Given the description of an element on the screen output the (x, y) to click on. 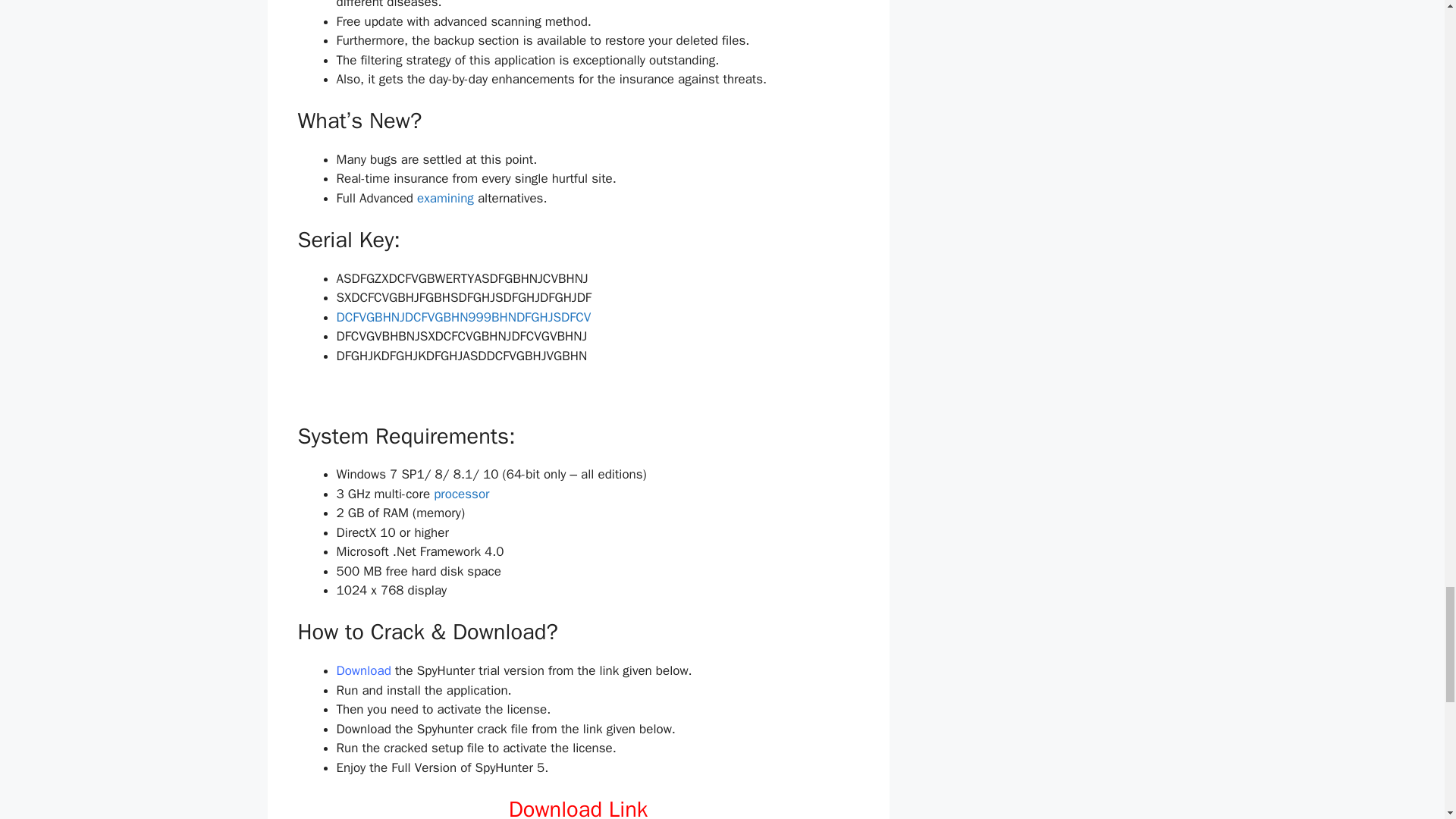
examining (445, 198)
Download Link (577, 807)
Download  (365, 670)
DCFVGBHNJDCFVGBHN999BHNDFGHJSDFCV (463, 317)
processor (461, 494)
